Given the description of an element on the screen output the (x, y) to click on. 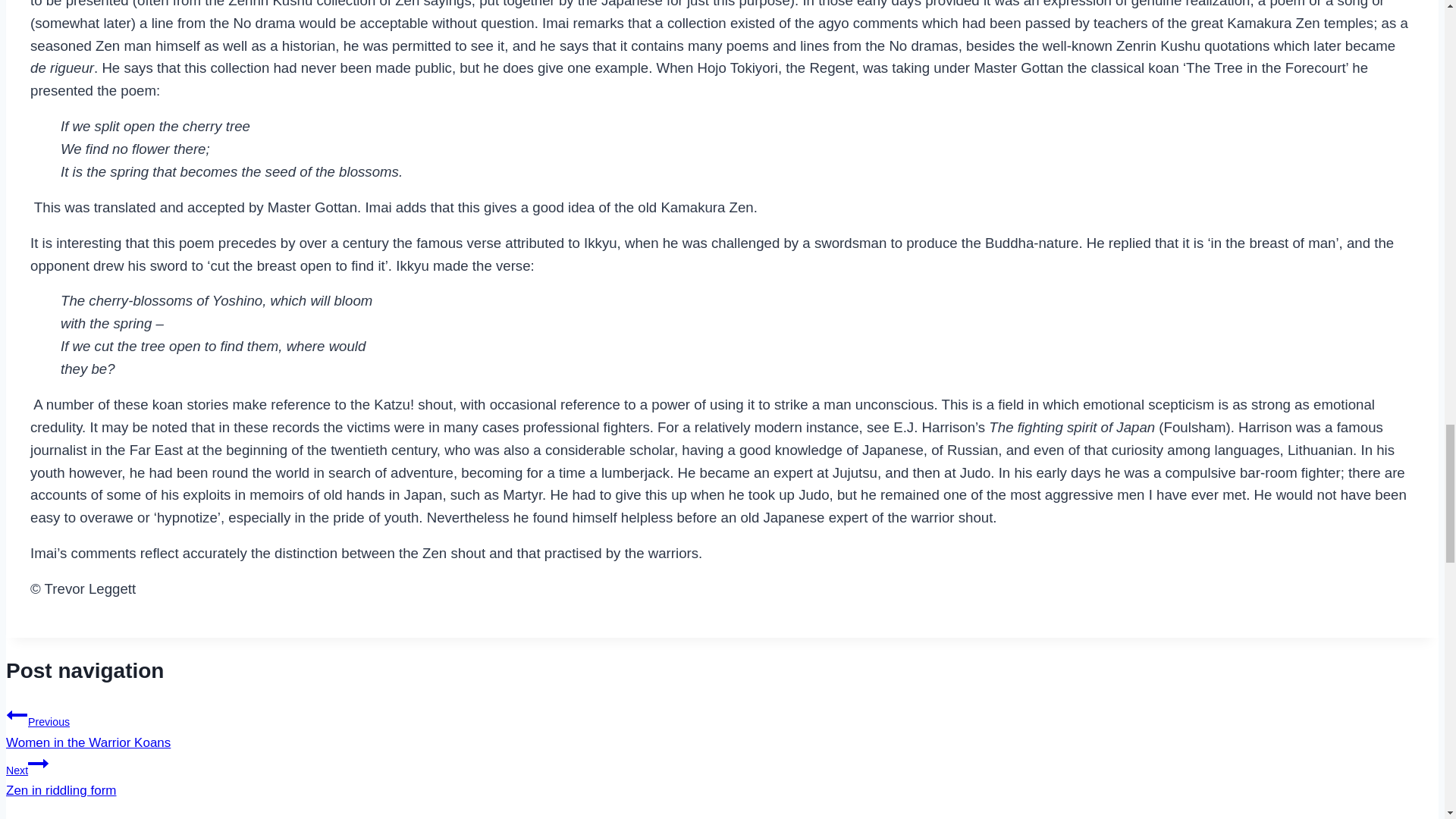
Previous (16, 714)
Continue (37, 762)
